Given the description of an element on the screen output the (x, y) to click on. 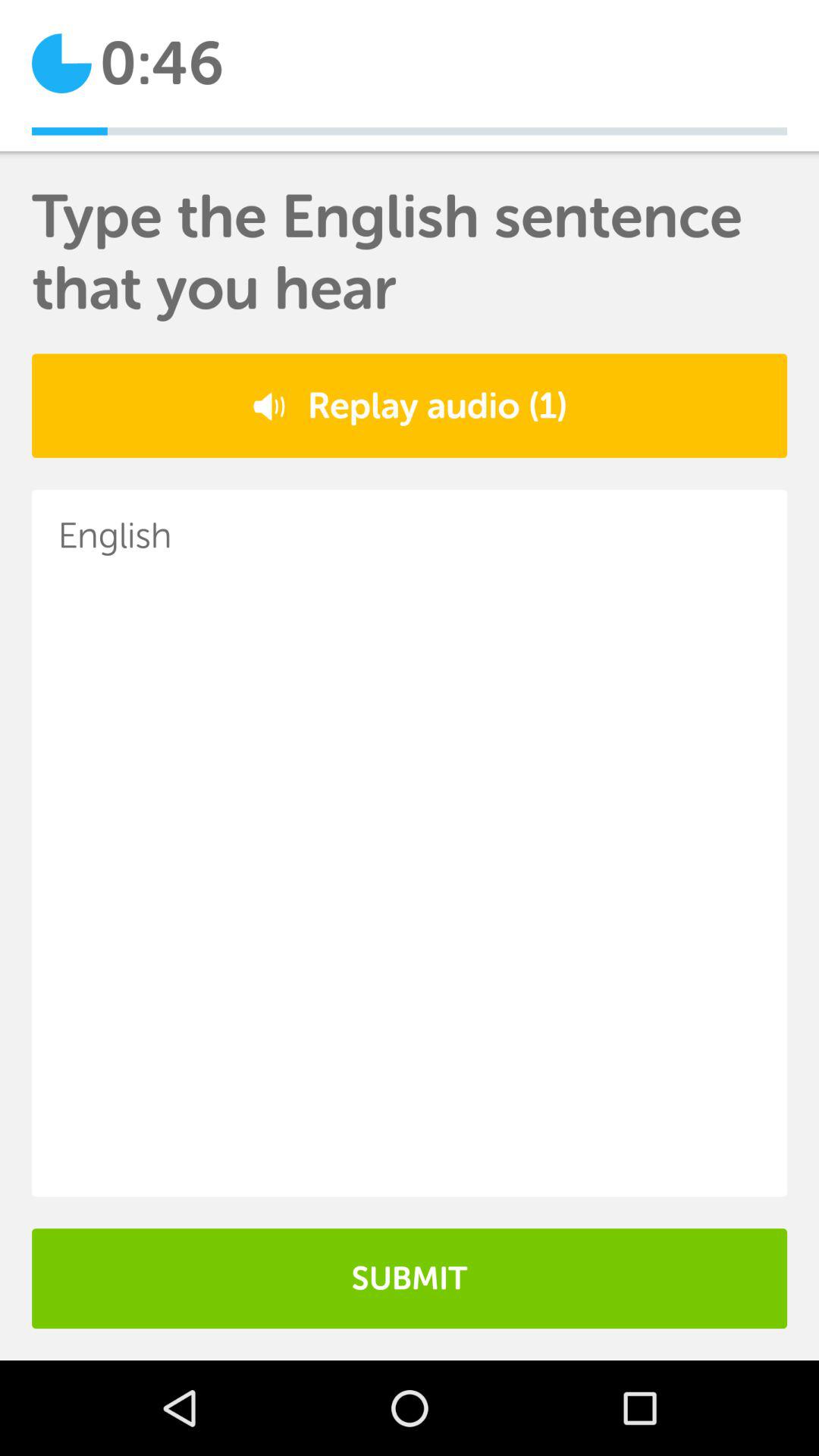
press the item below english item (409, 1278)
